Given the description of an element on the screen output the (x, y) to click on. 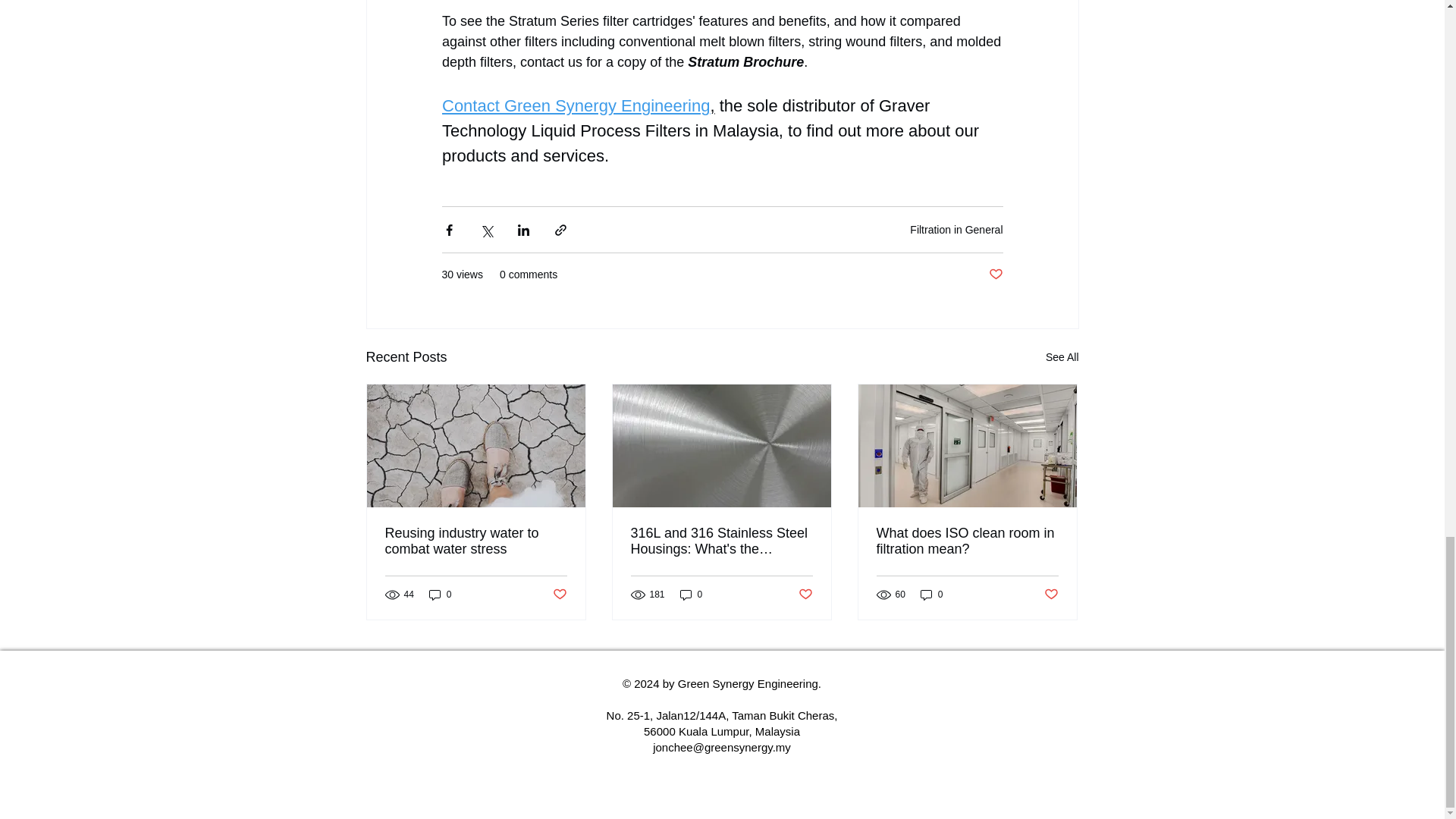
See All (1061, 357)
Post not marked as liked (1050, 594)
Filtration in General (956, 229)
Contact Green Synergy Engineering (575, 105)
0 (440, 594)
0 (691, 594)
Post not marked as liked (804, 594)
0 (931, 594)
Post not marked as liked (558, 594)
What does ISO clean room in filtration mean? (967, 541)
Post not marked as liked (995, 274)
Reusing industry water to combat water stress (476, 541)
